Given the description of an element on the screen output the (x, y) to click on. 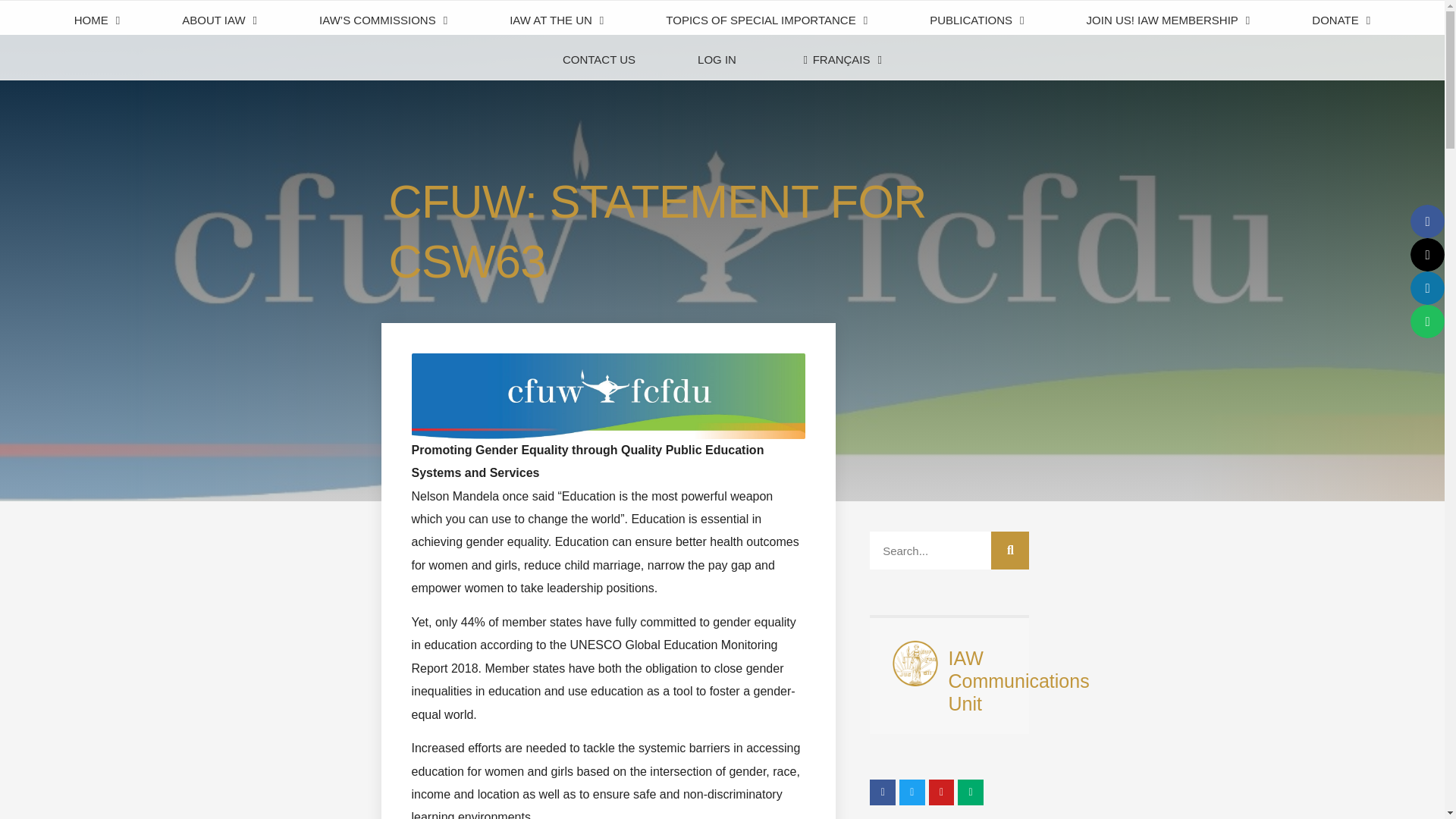
HOME (97, 20)
IAW AT THE UN (556, 20)
ABOUT IAW (219, 20)
